Given the description of an element on the screen output the (x, y) to click on. 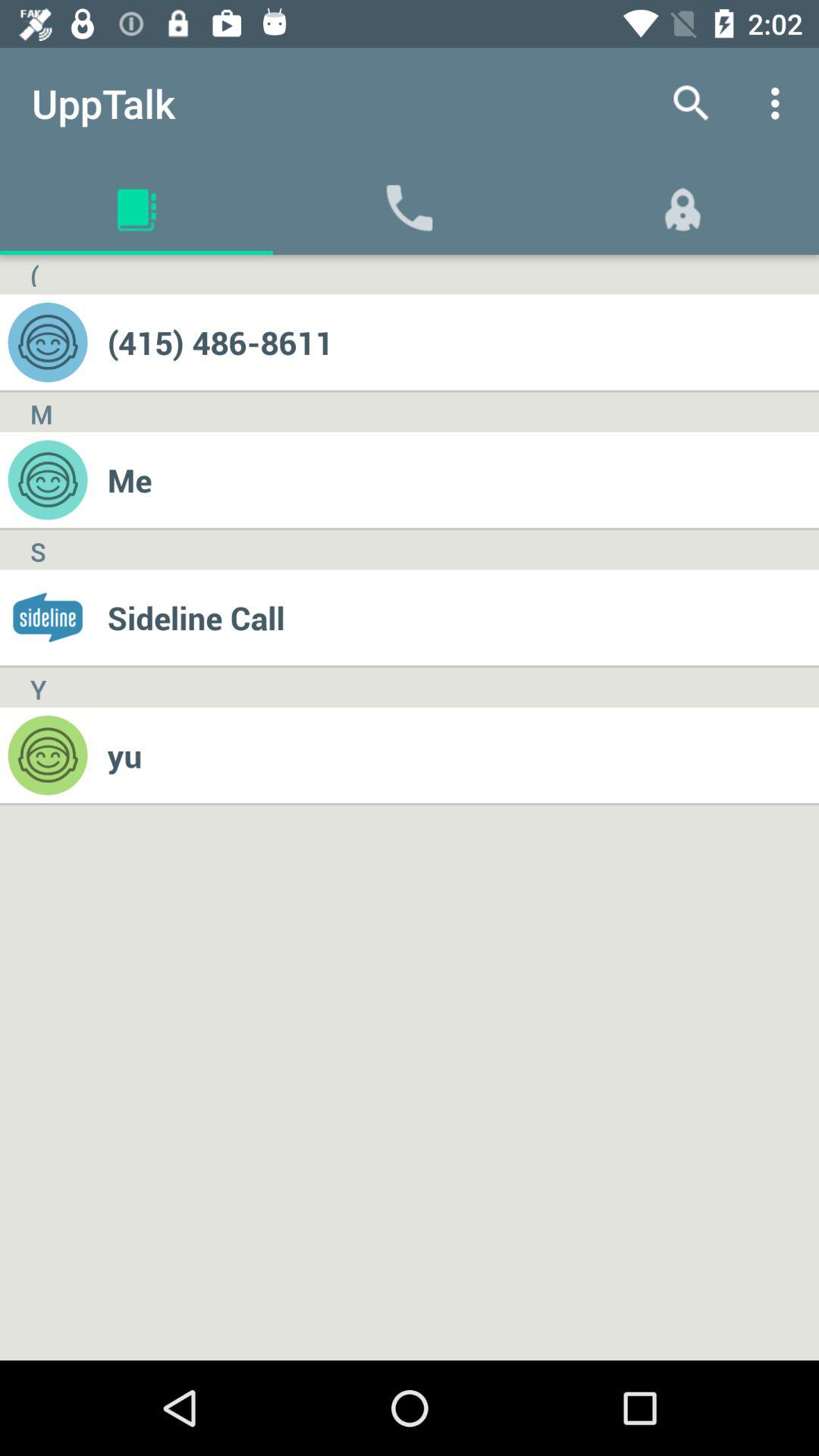
swipe until the y icon (38, 687)
